Given the description of an element on the screen output the (x, y) to click on. 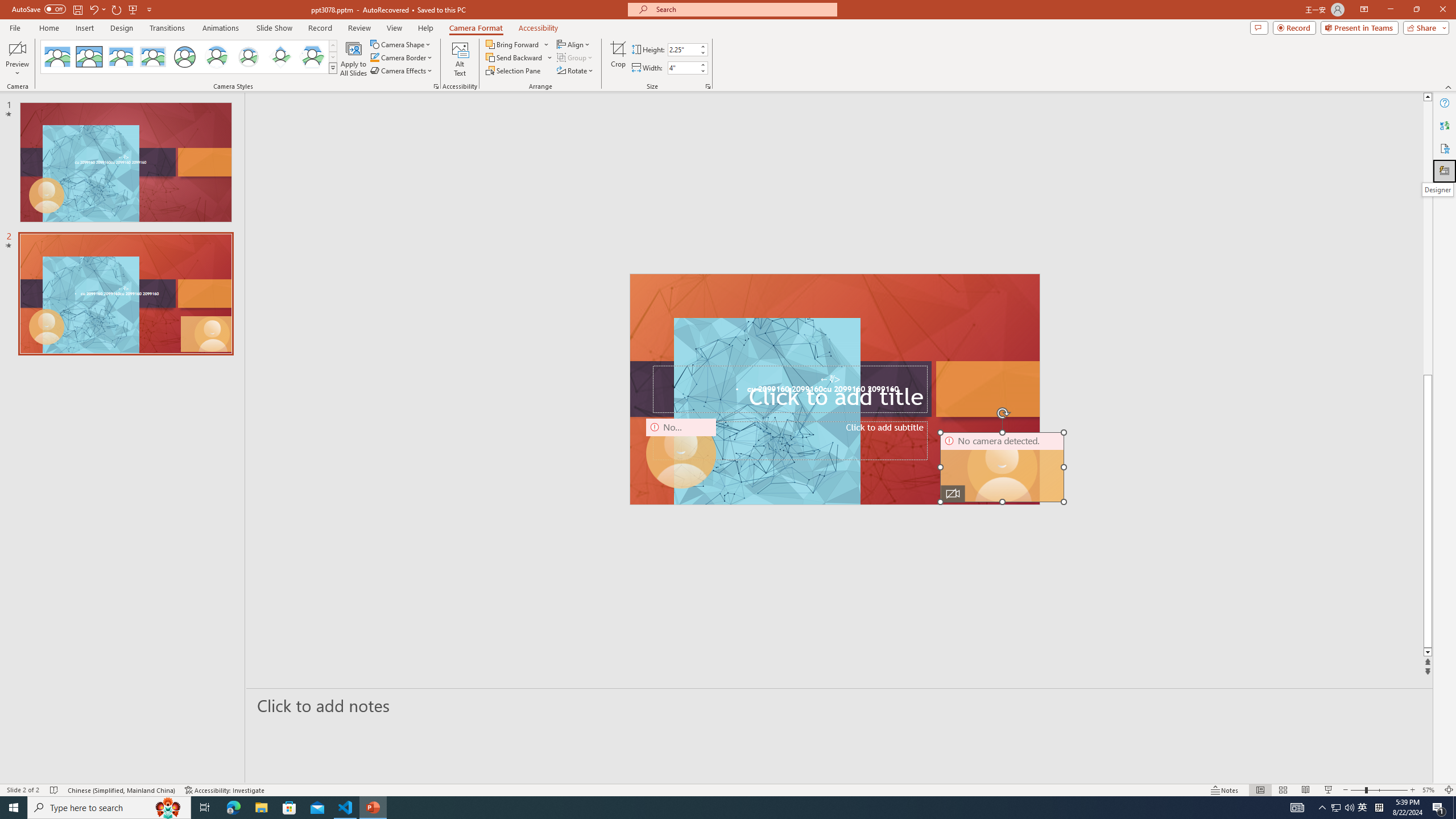
Align (574, 44)
Apply to All Slides (353, 58)
Camera Shape (400, 44)
TextBox 61 (833, 390)
Center Shadow Diamond (280, 56)
Camera 14, No camera detected. (1002, 466)
Selection Pane... (513, 69)
Camera Border Green, Accent 1 (374, 56)
Cameo Width (682, 67)
Soft Edge Circle (248, 56)
